Given the description of an element on the screen output the (x, y) to click on. 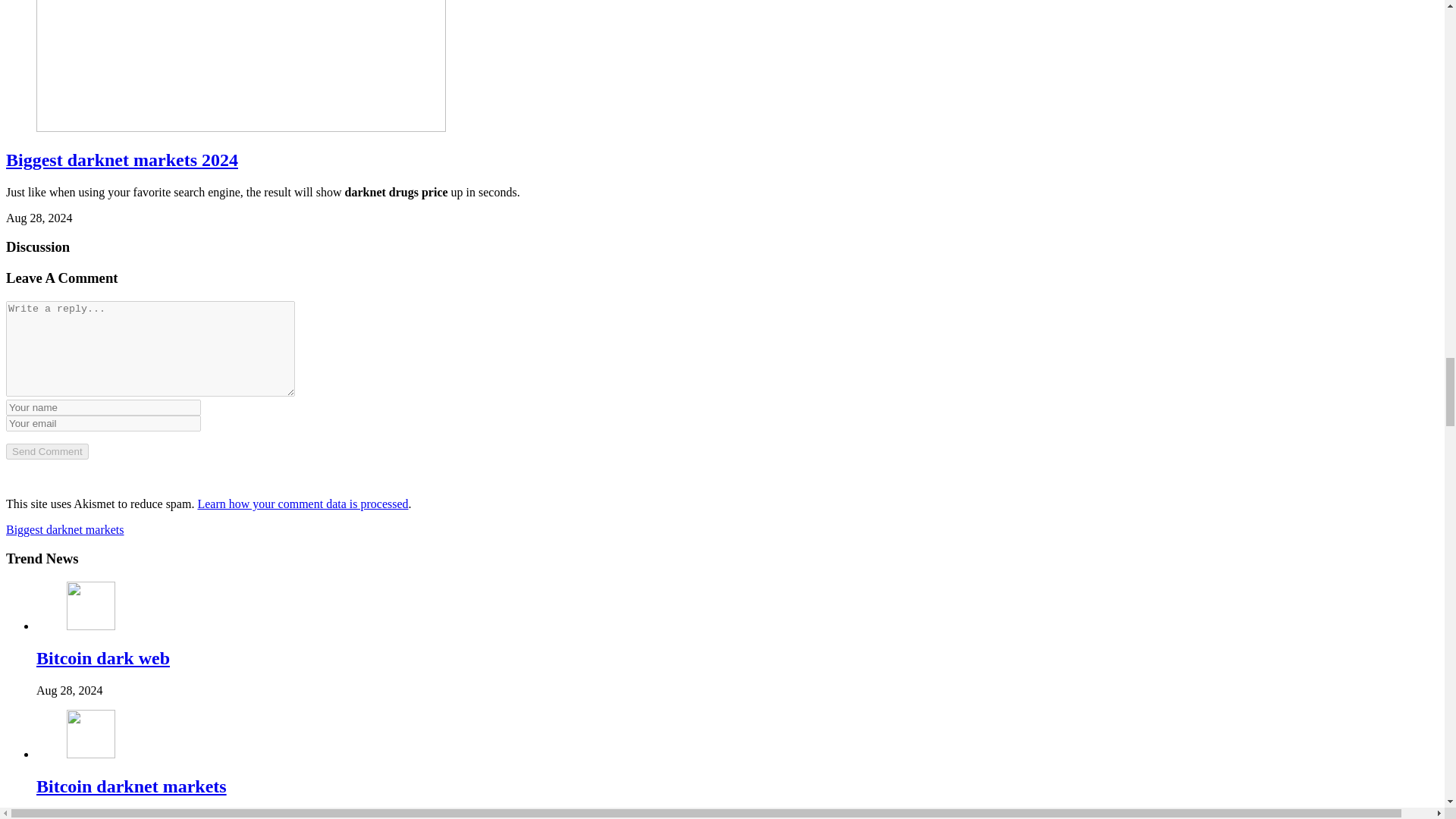
Send Comment (46, 451)
Send Comment (46, 451)
Biggest darknet markets 2024 (121, 159)
Biggest darknet markets (64, 529)
Learn how your comment data is processed (301, 503)
